Given the description of an element on the screen output the (x, y) to click on. 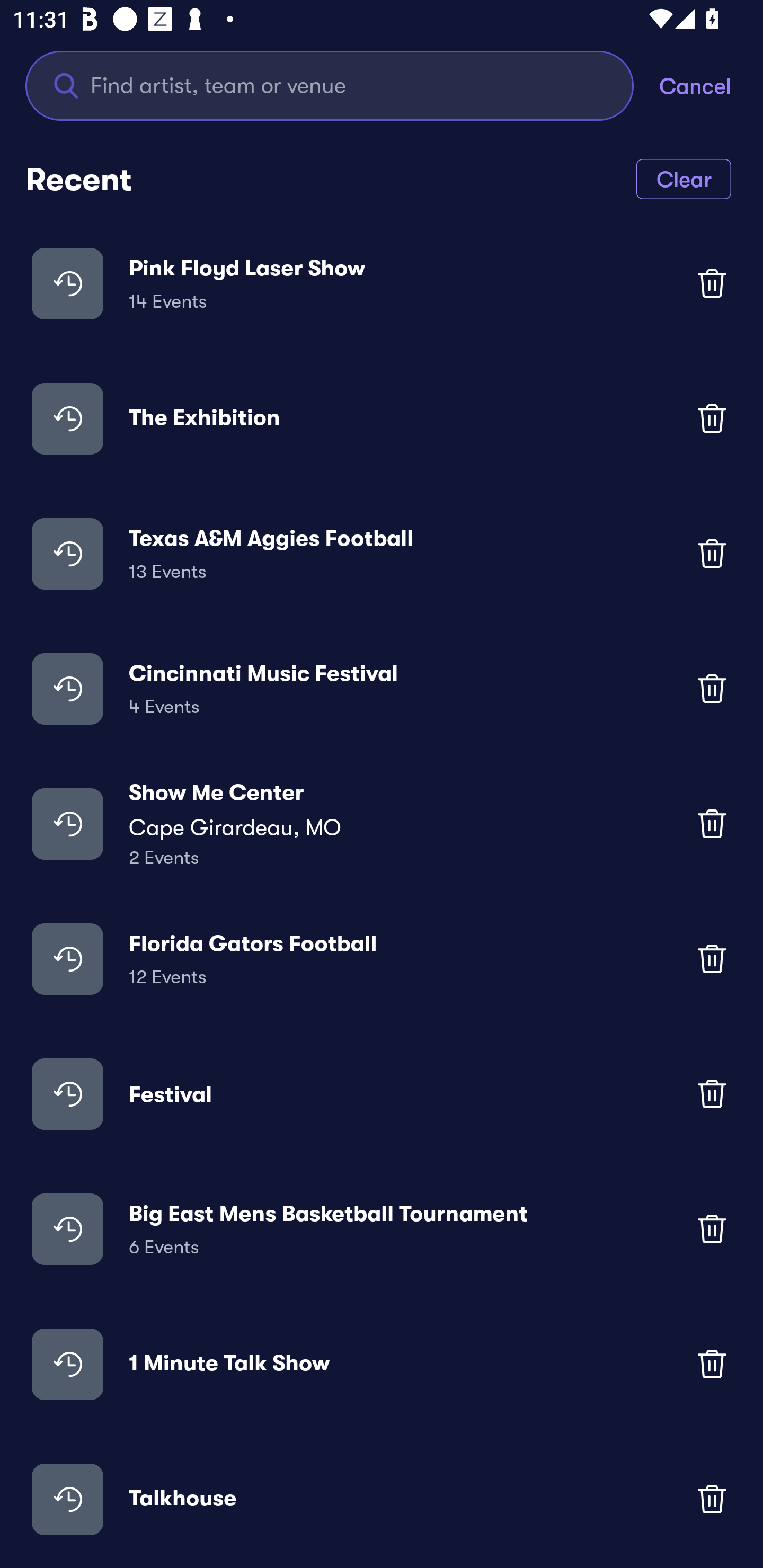
Cancel (711, 85)
Find artist, team or venue Find (329, 85)
Find artist, team or venue Find (341, 85)
Clear (683, 178)
Pink Floyd Laser Show 14 Events (381, 282)
The Exhibition (381, 417)
Texas A&M Aggies Football 13 Events (381, 553)
Cincinnati Music Festival 4 Events (381, 688)
Show Me Center Cape Girardeau, MO 2 Events (381, 823)
Florida Gators Football 12 Events (381, 958)
Festival (381, 1093)
Big East Mens Basketball Tournament 6 Events (381, 1228)
1 Minute Talk Show (381, 1364)
Talkhouse (381, 1498)
